Given the description of an element on the screen output the (x, y) to click on. 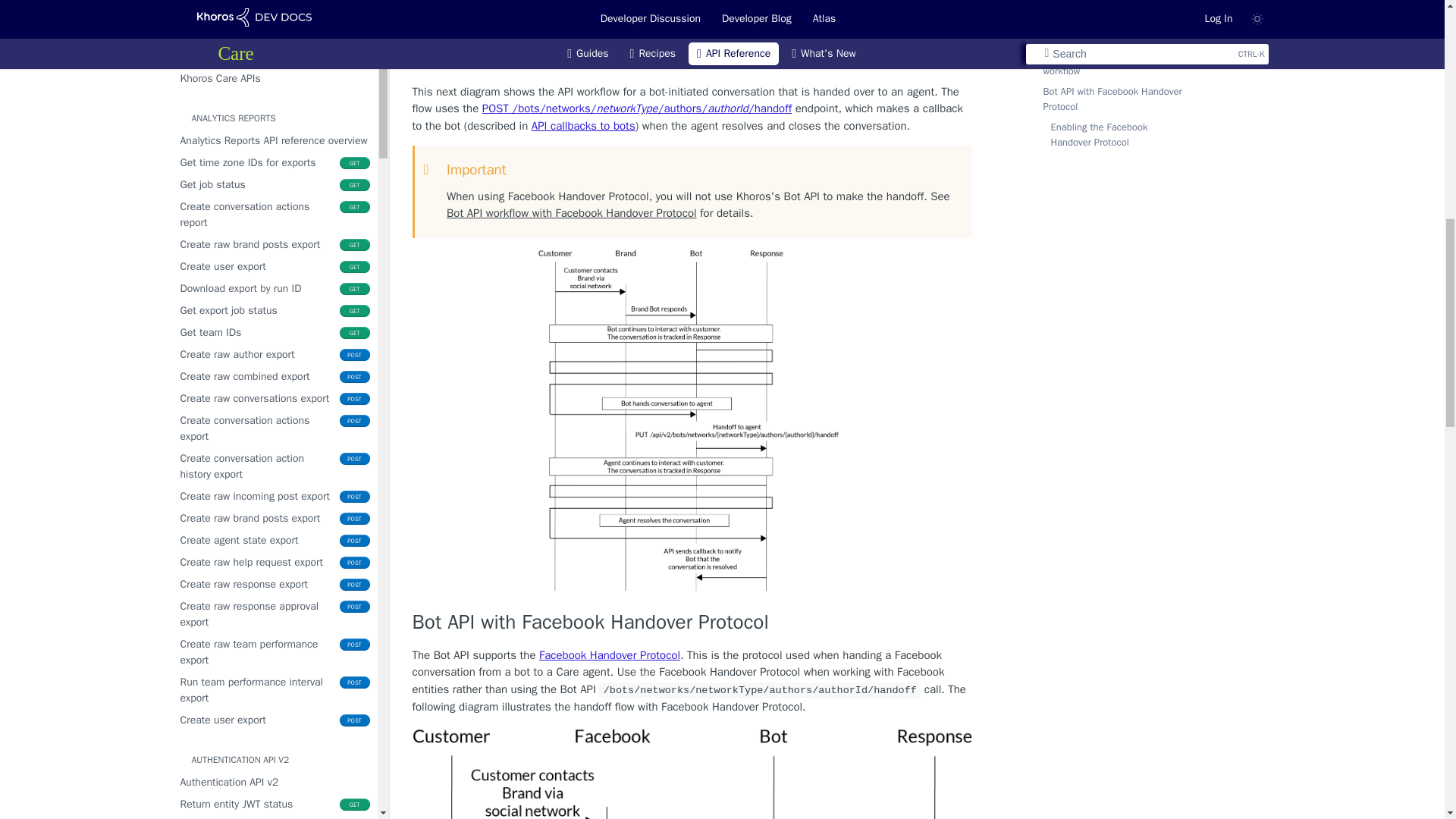
botApiBotResolveFlow.png (692, 13)
botApiBotHandoffFlowFacebook.png (692, 773)
Handoff to Khoros Care agent workflow (692, 59)
botApiBotHandoffFlow.png (691, 419)
Bot API with Facebook Handover Protocol (692, 622)
